Given the description of an element on the screen output the (x, y) to click on. 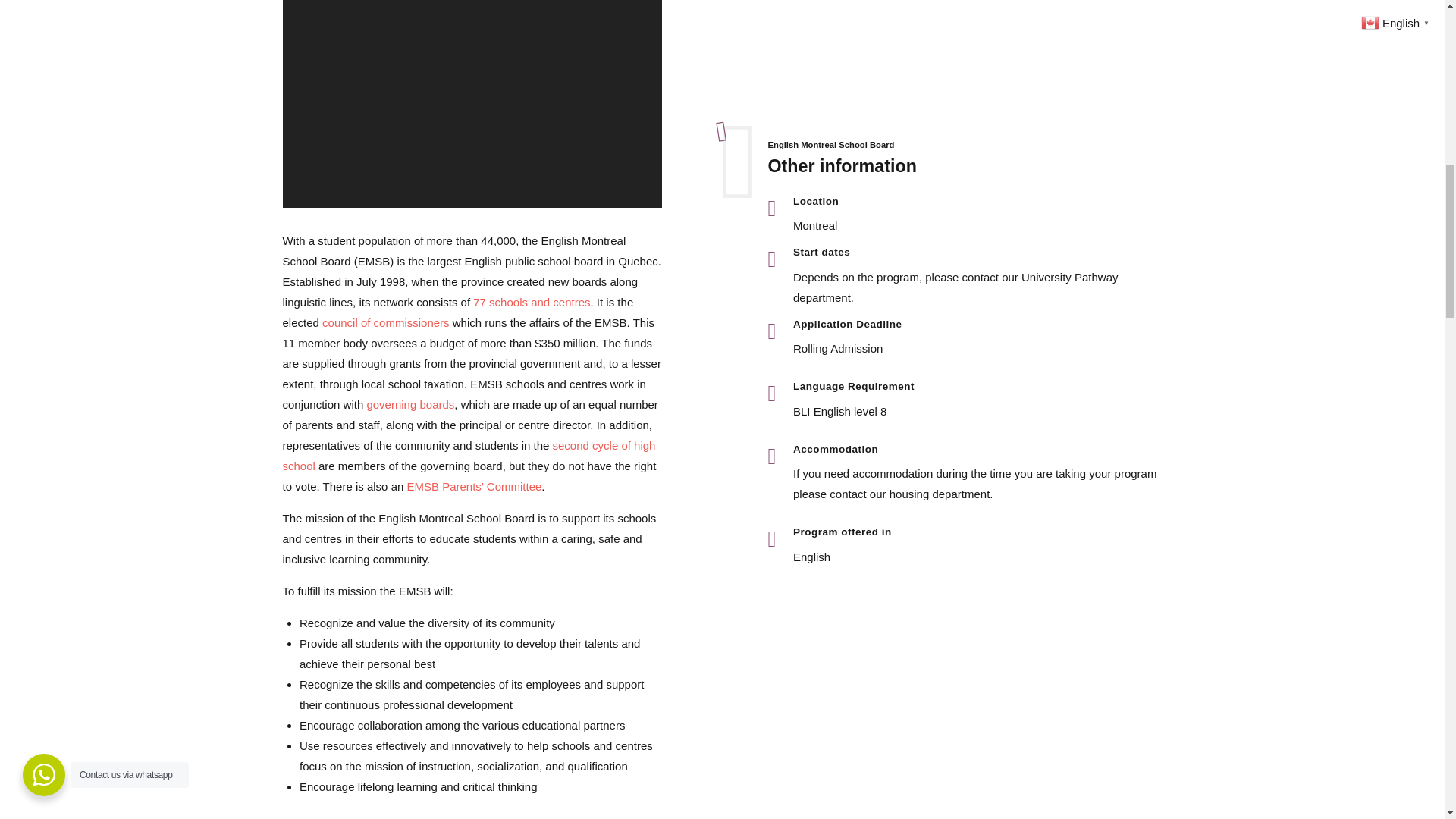
EMSB EMSB Parents Committee Page (473, 486)
EMSB School Governing Boards Page (410, 404)
EMSB Quebec School System Page (468, 455)
EMSB School Search Page (531, 301)
EMSB Council of Commissioners Page (385, 322)
